Given the description of an element on the screen output the (x, y) to click on. 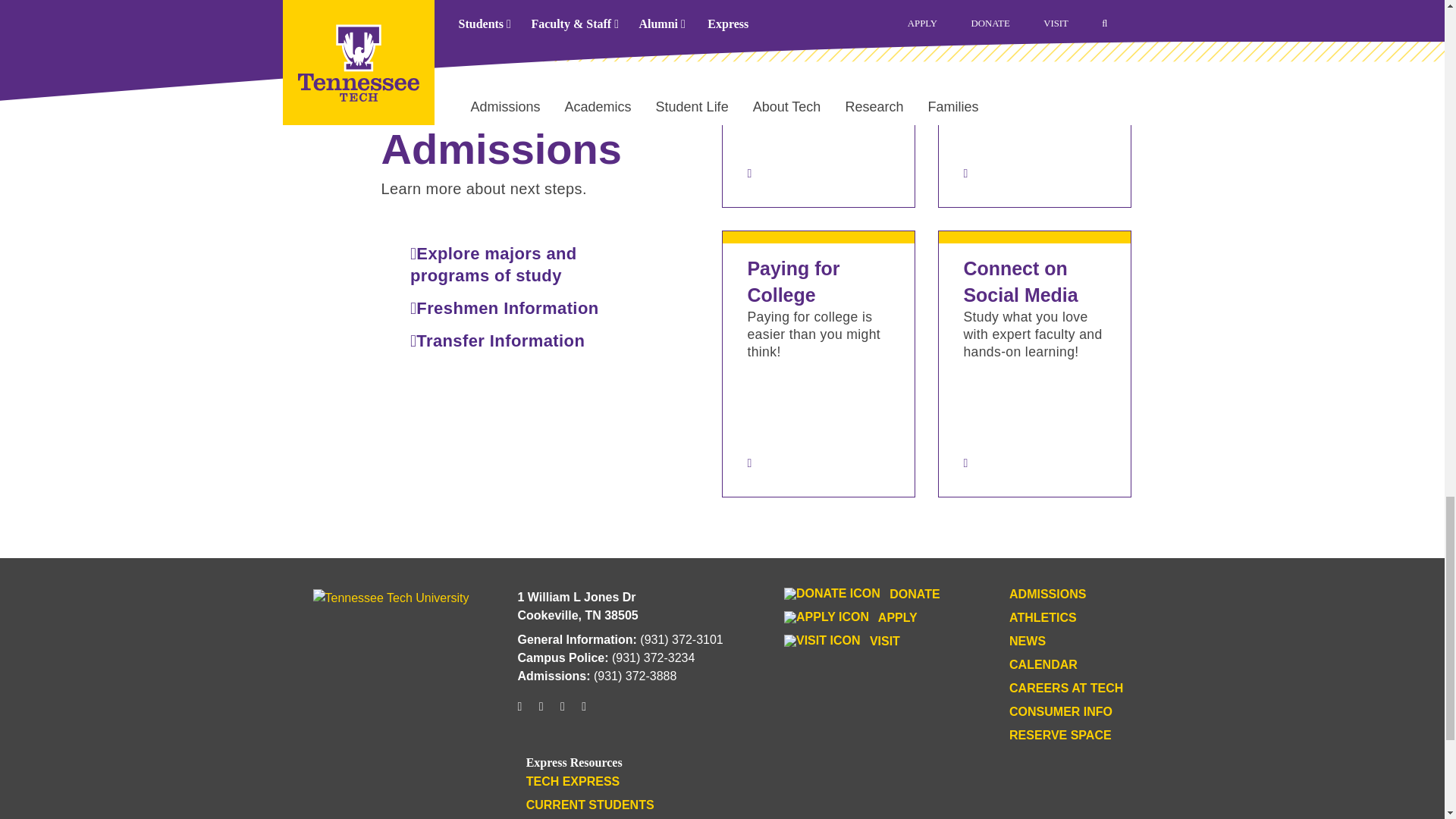
Facebook (541, 712)
YouTube (562, 712)
Email (583, 712)
